Given the description of an element on the screen output the (x, y) to click on. 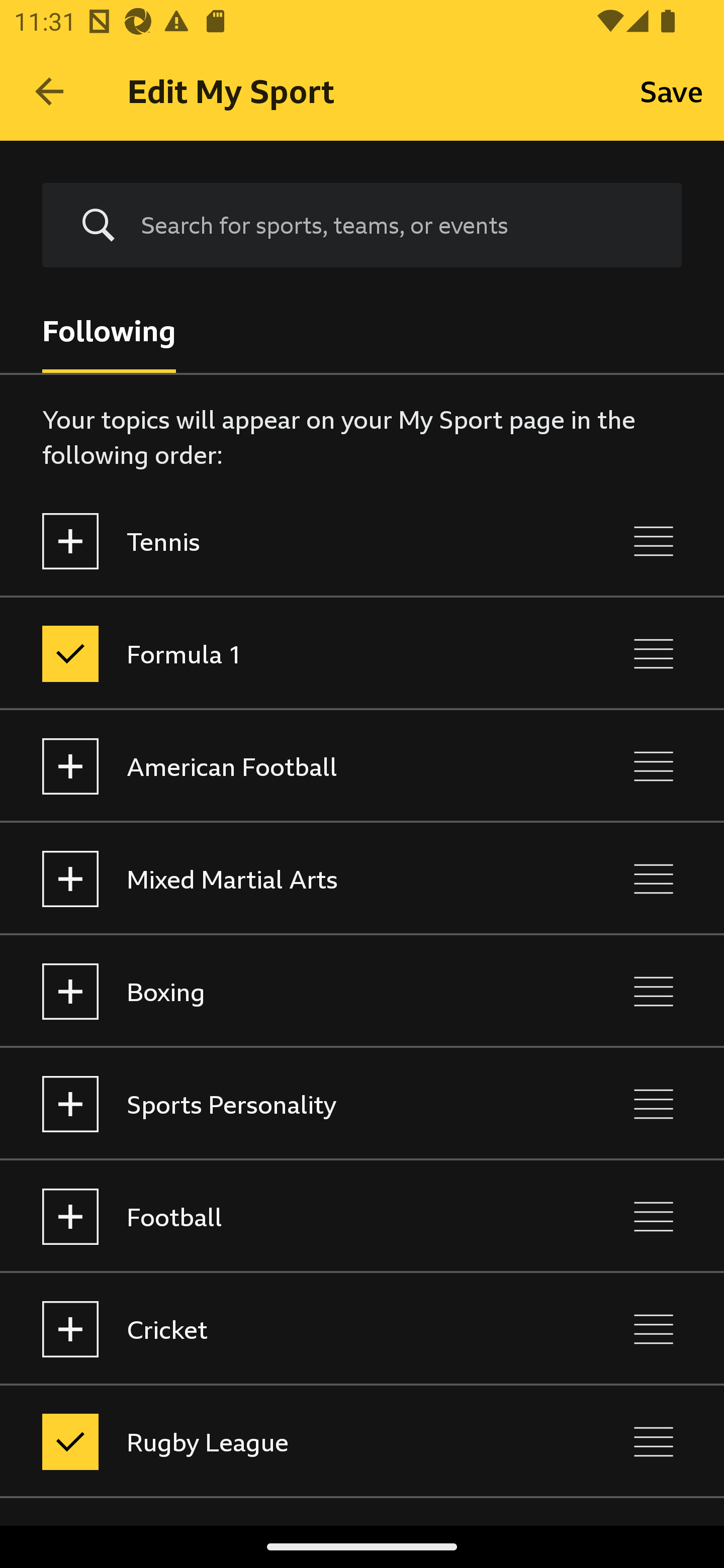
Navigate up (49, 91)
Save (671, 90)
Search for sports, teams, or events (361, 225)
Search for sports, teams, or events (396, 224)
Tennis (277, 540)
Reorder Tennis (653, 540)
Formula 1 (277, 653)
Reorder Formula 1 (653, 653)
American Football (277, 766)
Reorder American Football (653, 766)
Mixed Martial Arts (277, 878)
Reorder Mixed Martial Arts (653, 878)
Boxing (277, 990)
Reorder Boxing (653, 990)
Sports Personality (277, 1103)
Reorder Sports Personality (653, 1103)
Football (277, 1216)
Reorder Football (653, 1216)
Cricket (277, 1329)
Reorder Cricket (653, 1329)
Rugby League (277, 1441)
Reorder Rugby League (653, 1441)
